Given the description of an element on the screen output the (x, y) to click on. 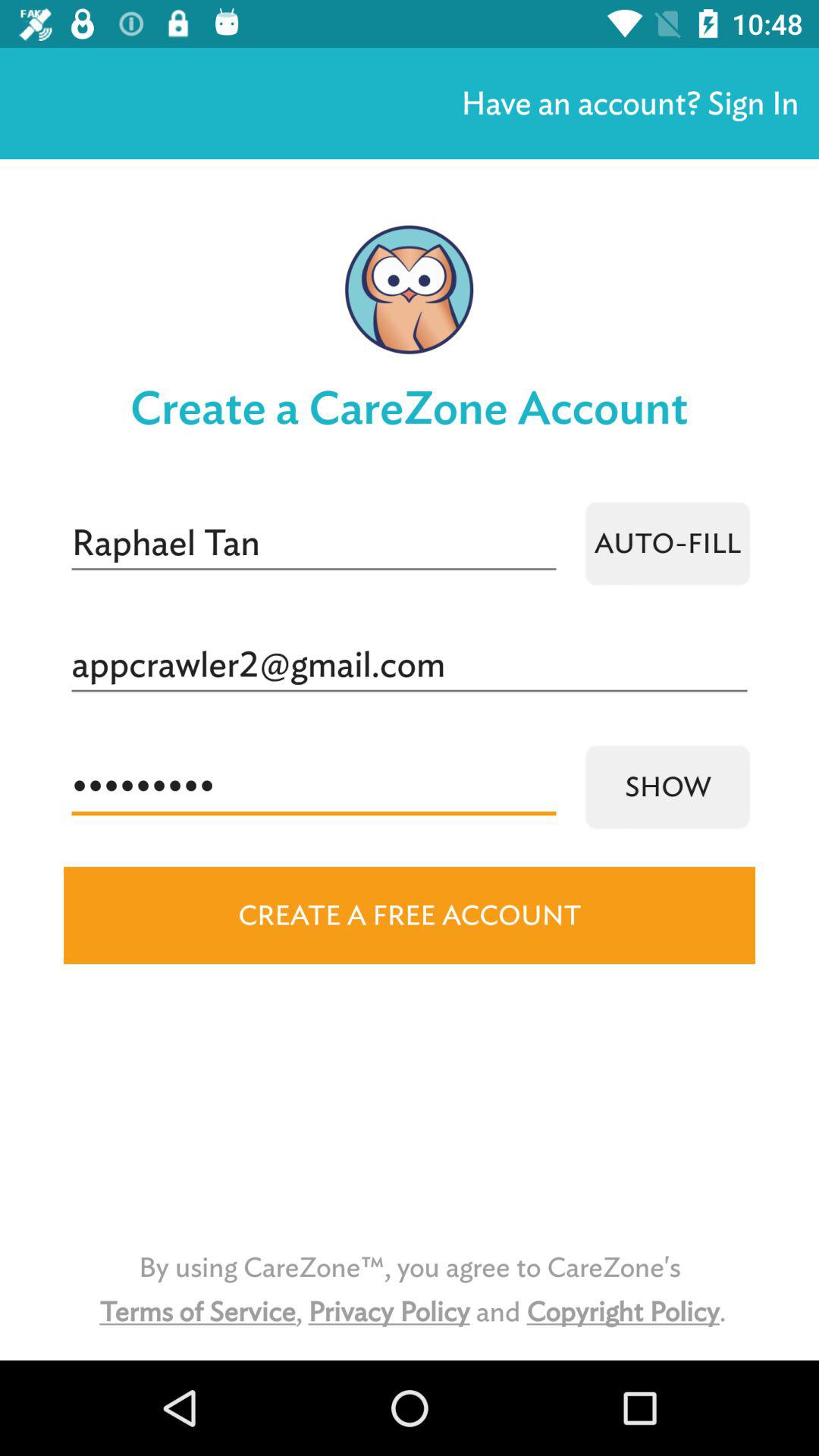
choose appcrawler2@gmail.com icon (409, 665)
